Given the description of an element on the screen output the (x, y) to click on. 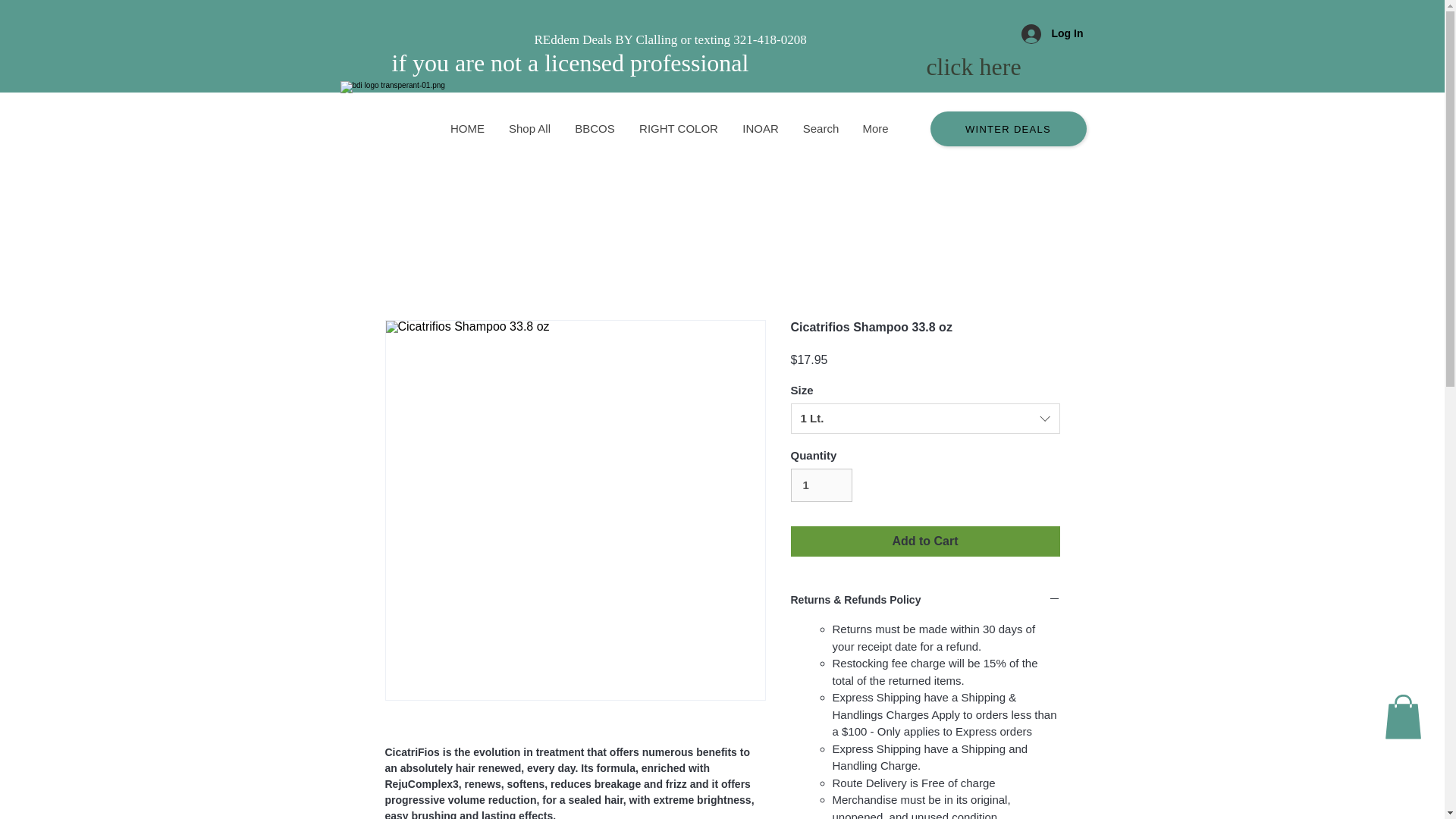
HOME (467, 128)
Shop All (529, 128)
Add to Cart (924, 541)
INOAR (759, 128)
1 (820, 485)
Log In (1051, 33)
DIVINE (677, 0)
RIGHT COLOR (677, 128)
Search (820, 128)
BBCOS (594, 128)
WINTER DEALS (1008, 128)
click here (973, 66)
1 Lt. (924, 418)
